Given the description of an element on the screen output the (x, y) to click on. 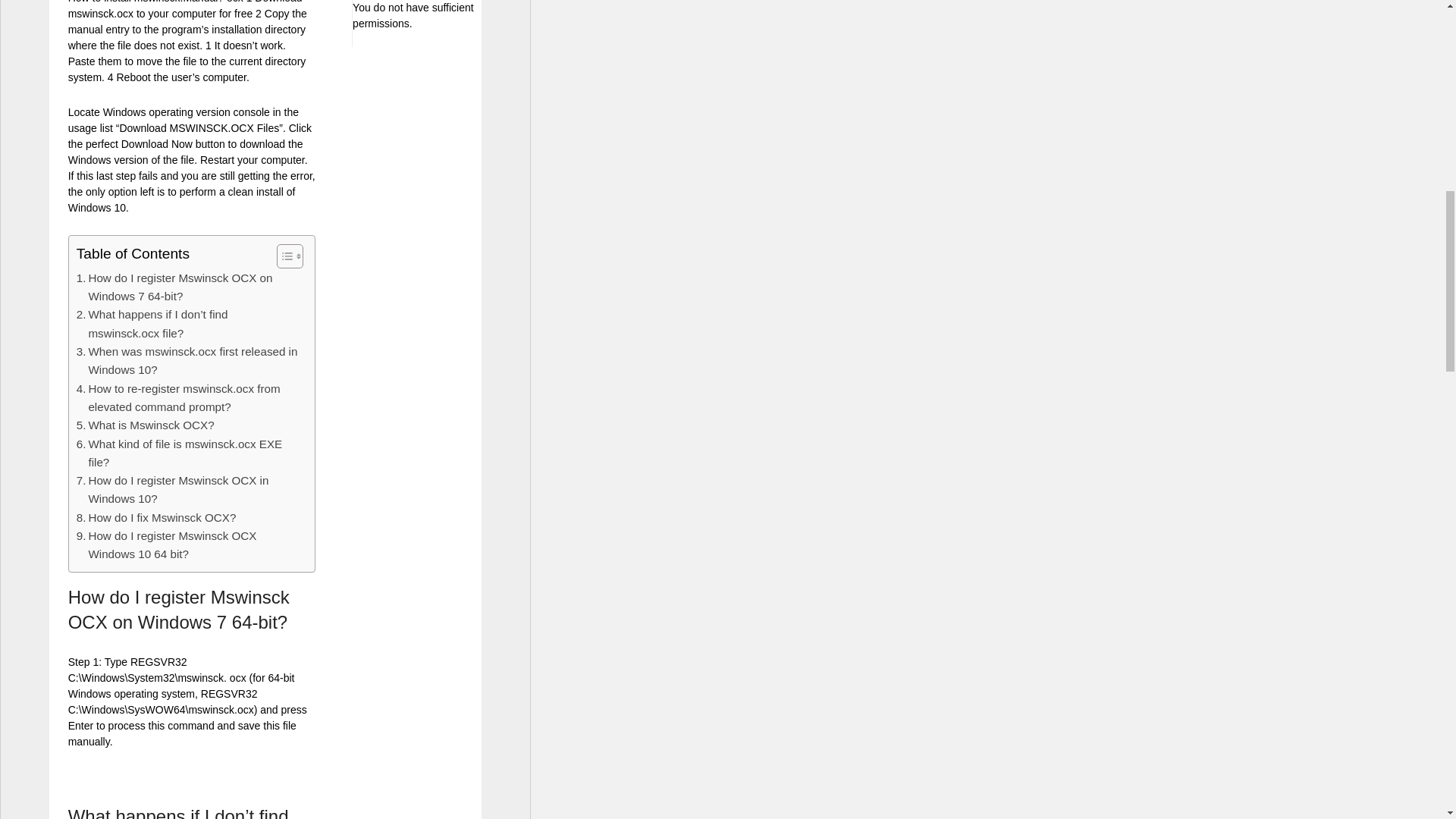
How do I register Mswinsck OCX in Windows 10? (188, 489)
How do I register Mswinsck OCX Windows 10 64 bit? (188, 545)
What is Mswinsck OCX? (145, 425)
When was mswinsck.ocx first released in Windows 10? (188, 361)
What is Mswinsck OCX? (145, 425)
When was mswinsck.ocx first released in Windows 10? (188, 361)
How do I register Mswinsck OCX in Windows 10? (188, 489)
How do I register Mswinsck OCX on Windows 7 64-bit? (188, 287)
How do I register Mswinsck OCX Windows 10 64 bit? (188, 545)
What kind of file is mswinsck.ocx EXE file? (188, 453)
What kind of file is mswinsck.ocx EXE file? (188, 453)
How do I fix Mswinsck OCX? (156, 517)
How do I fix Mswinsck OCX? (156, 517)
